Given the description of an element on the screen output the (x, y) to click on. 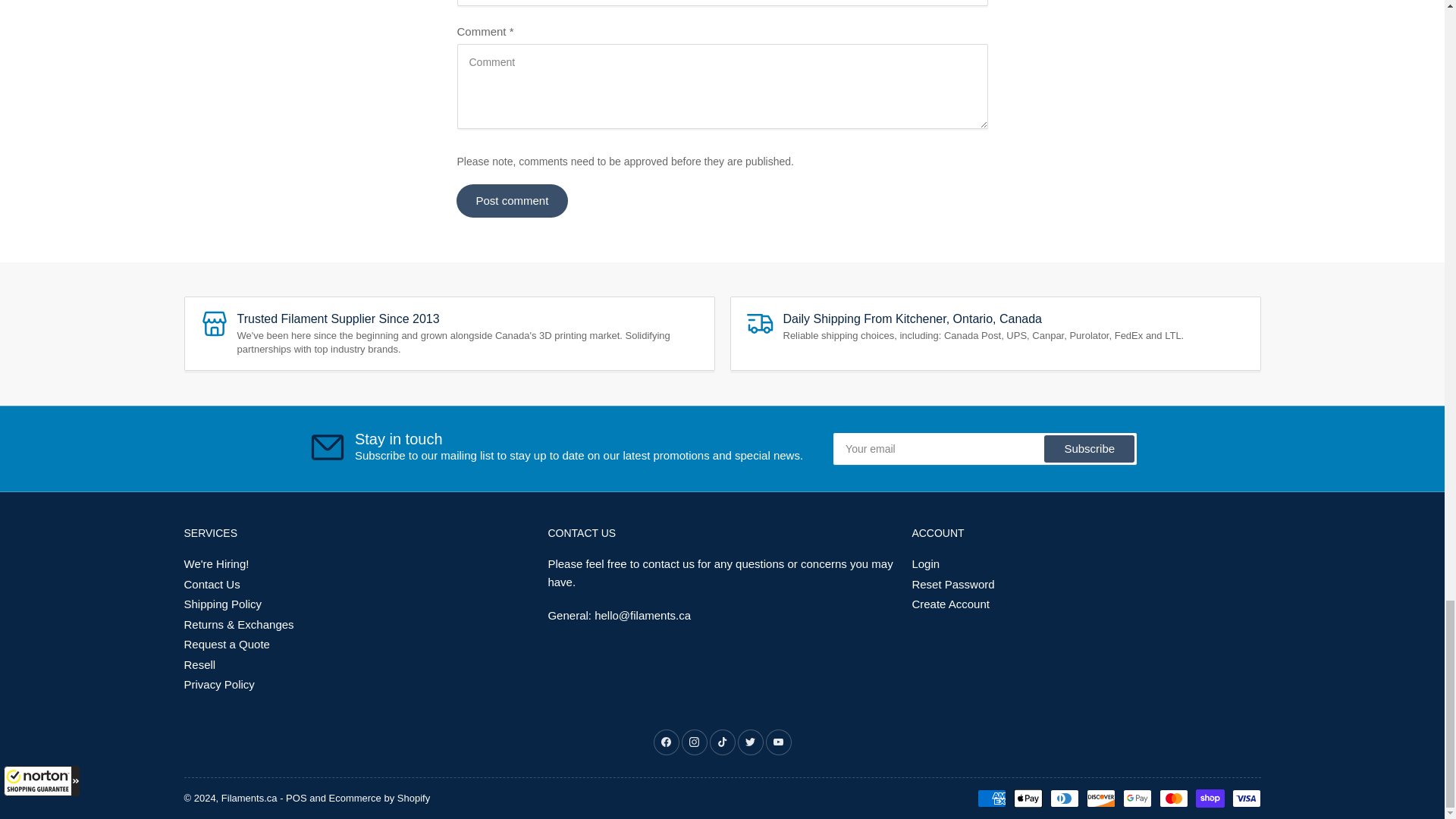
Google Pay (1136, 798)
Discover (1100, 798)
Post comment (512, 201)
Diners Club (1063, 798)
Apple Pay (1027, 798)
Mastercard (1173, 798)
American Express (991, 798)
